Given the description of an element on the screen output the (x, y) to click on. 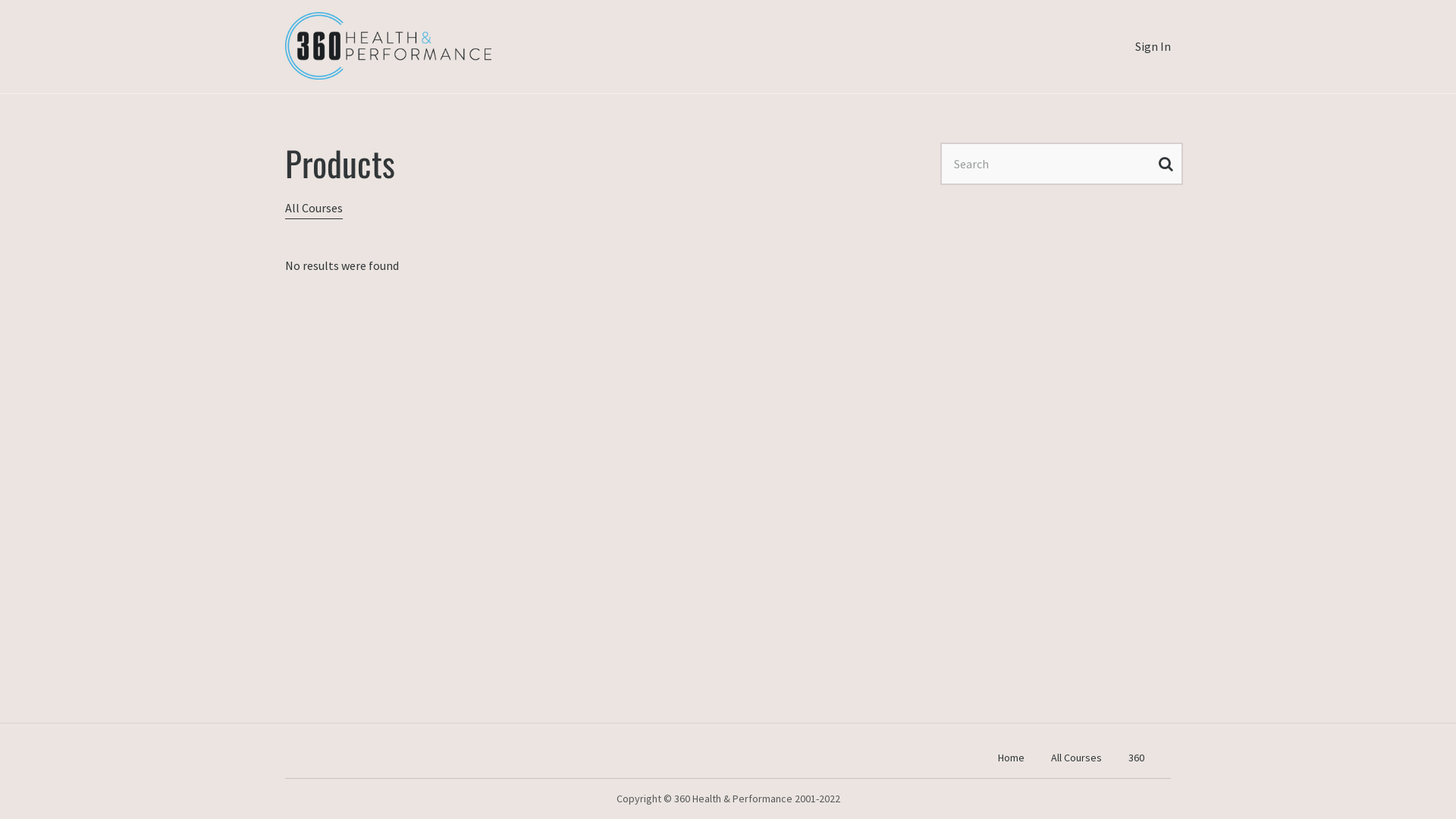
360Health&Performance Element type: text (388, 45)
All Courses Element type: text (313, 207)
360 Element type: text (1136, 757)
Home Element type: text (1010, 757)
All Courses Element type: text (1076, 757)
Sign In Element type: text (1152, 45)
